Given the description of an element on the screen output the (x, y) to click on. 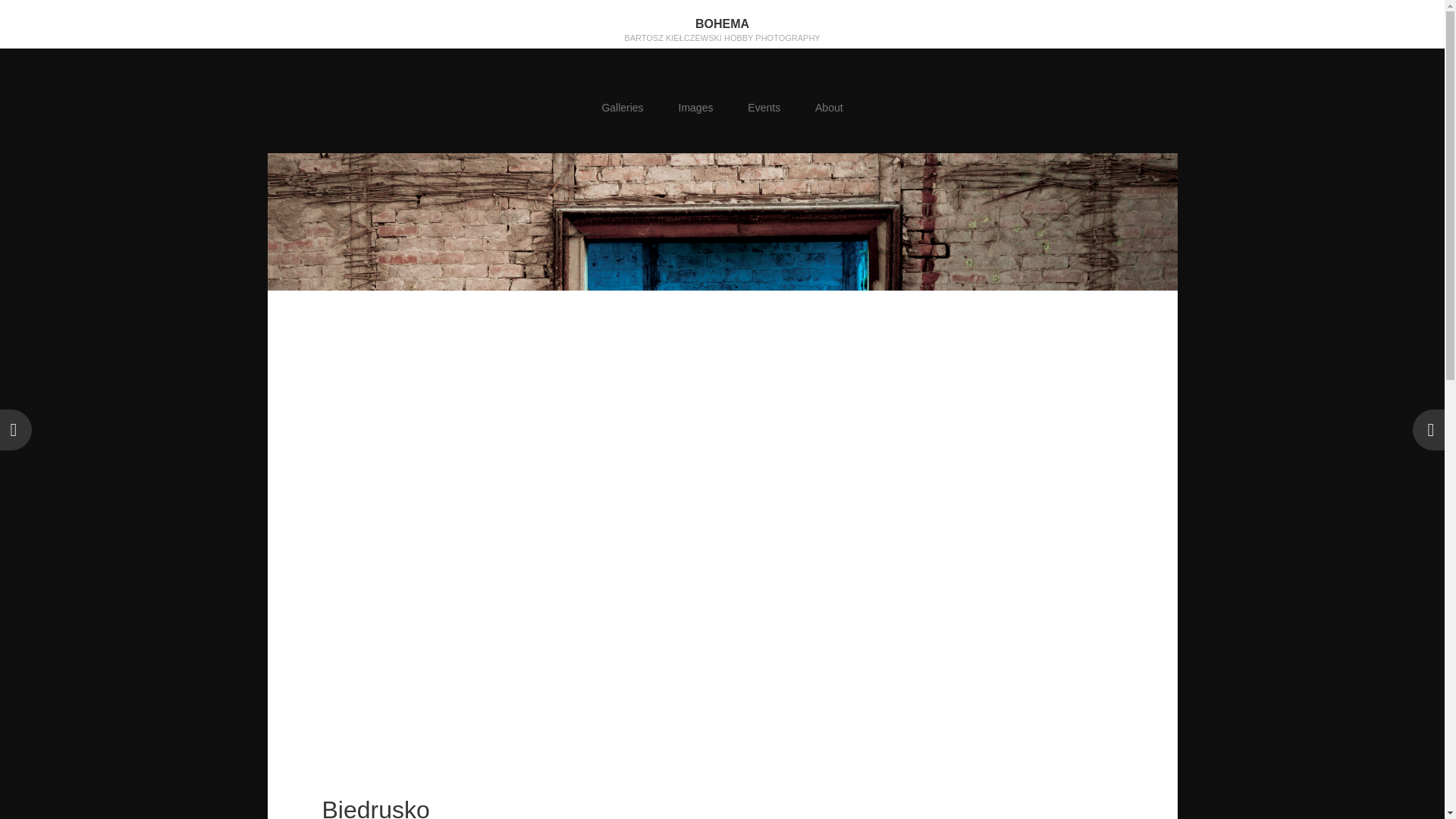
Events (764, 107)
About (829, 107)
Galleries (622, 107)
Images (695, 107)
